Given the description of an element on the screen output the (x, y) to click on. 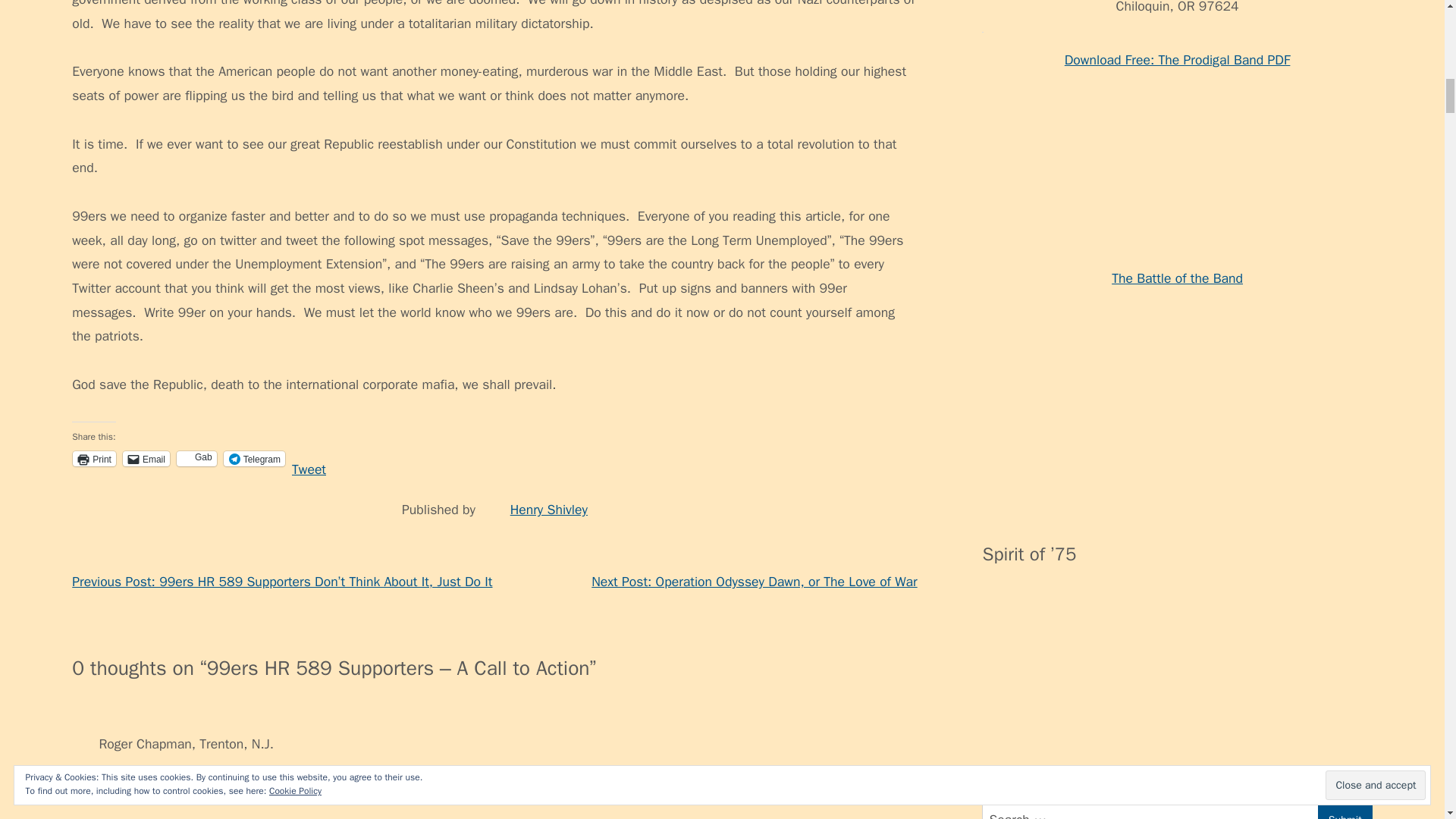
Henry Shivley (549, 509)
Click to share on Gab (196, 458)
Click to share on Telegram (254, 458)
Click to print (94, 458)
Print (94, 458)
Click to email a link to a friend (146, 458)
Tweet (309, 458)
Email (146, 458)
Telegram (254, 458)
porno (997, 258)
